Given the description of an element on the screen output the (x, y) to click on. 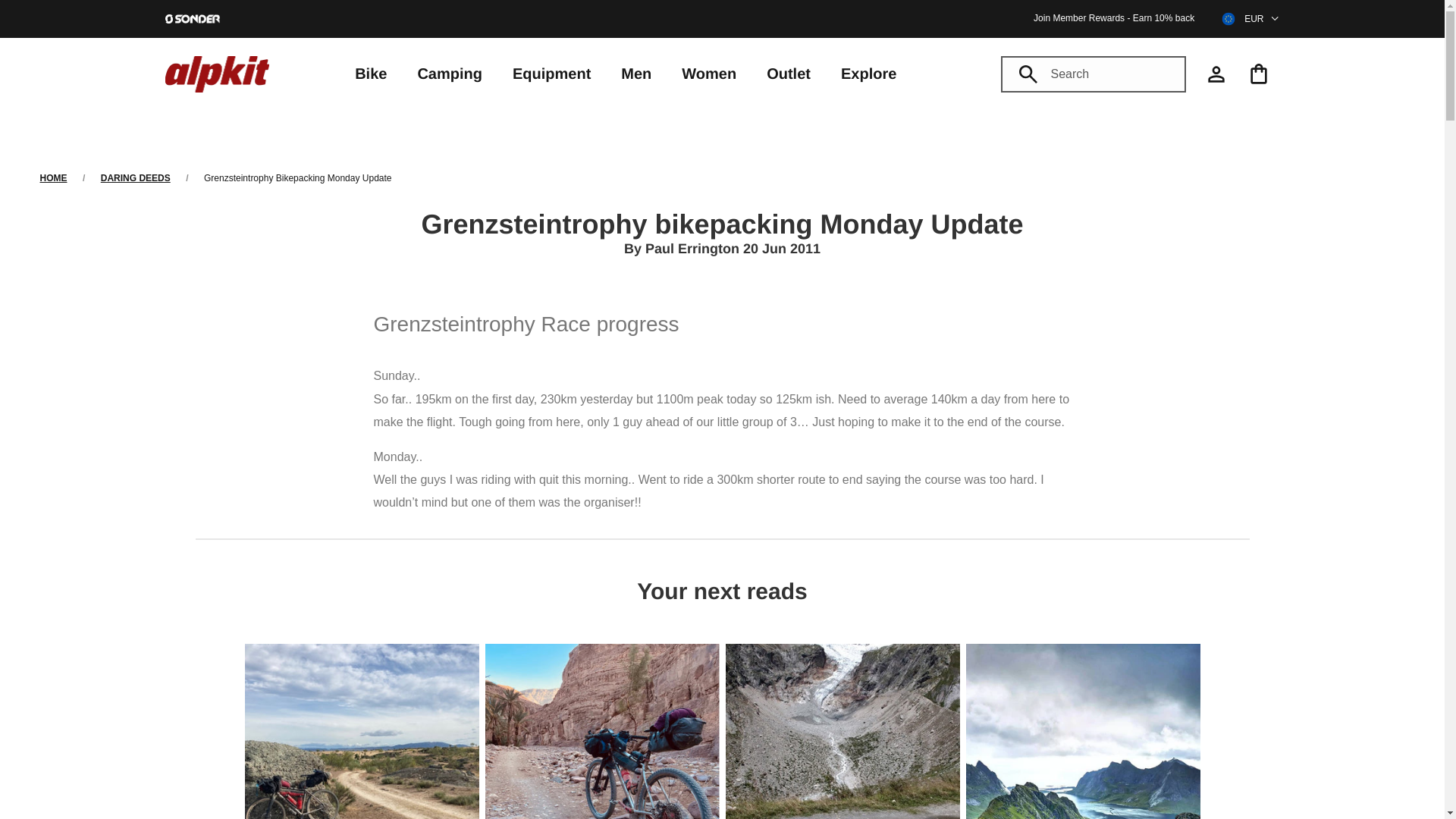
Home (52, 178)
SKIP TO CONTENT (64, 7)
Daring Deeds (135, 178)
